Given the description of an element on the screen output the (x, y) to click on. 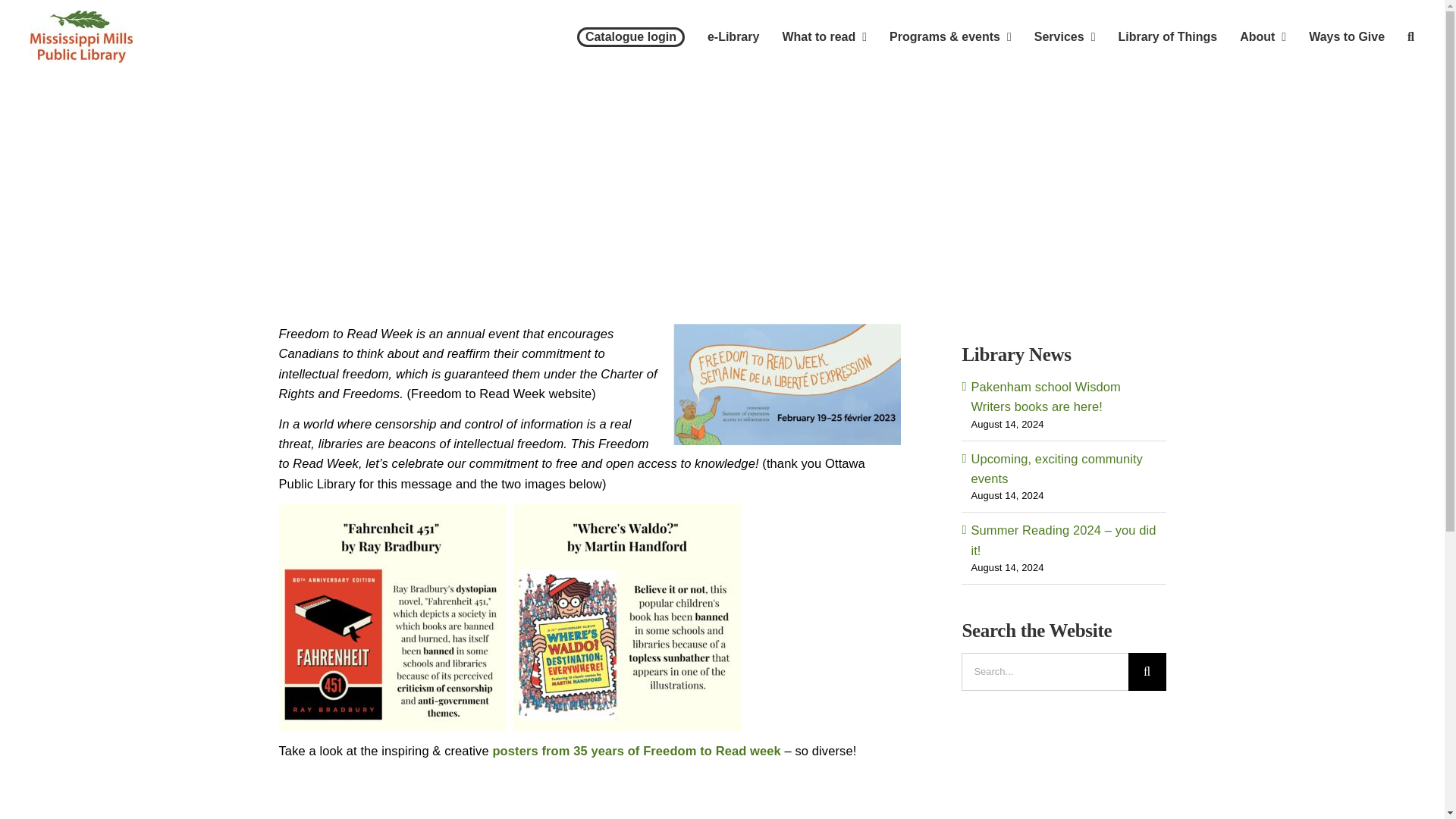
Upcoming, exciting community events (1056, 468)
What to read (823, 36)
posters from 35 years of Freedom to Read week (634, 750)
Ways to Give (1346, 36)
Library of Things (1167, 36)
Catalogue login (630, 36)
Pakenham school Wisdom Writers books are here! (1046, 396)
